Given the description of an element on the screen output the (x, y) to click on. 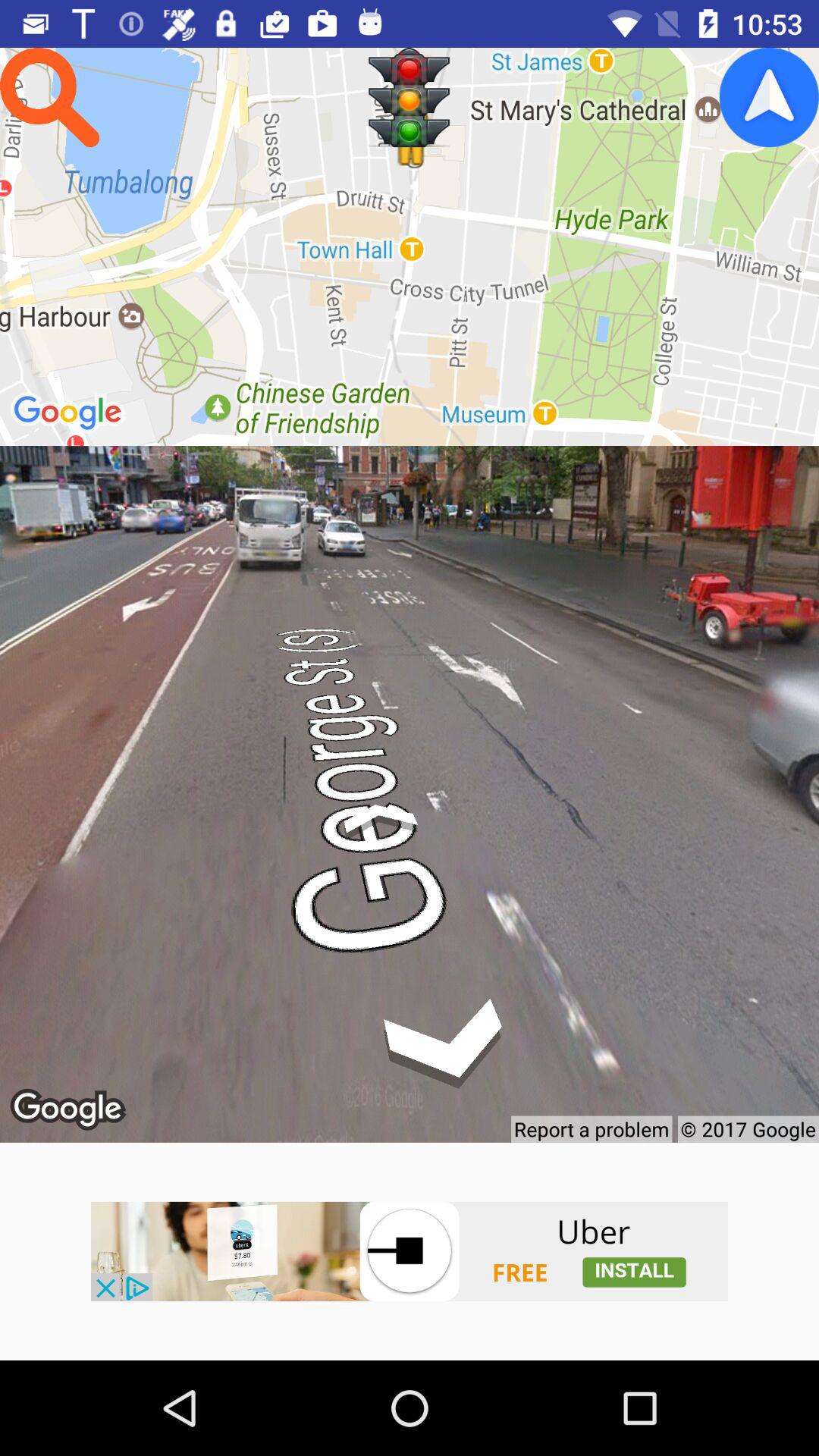
uber app installation (409, 1251)
